Given the description of an element on the screen output the (x, y) to click on. 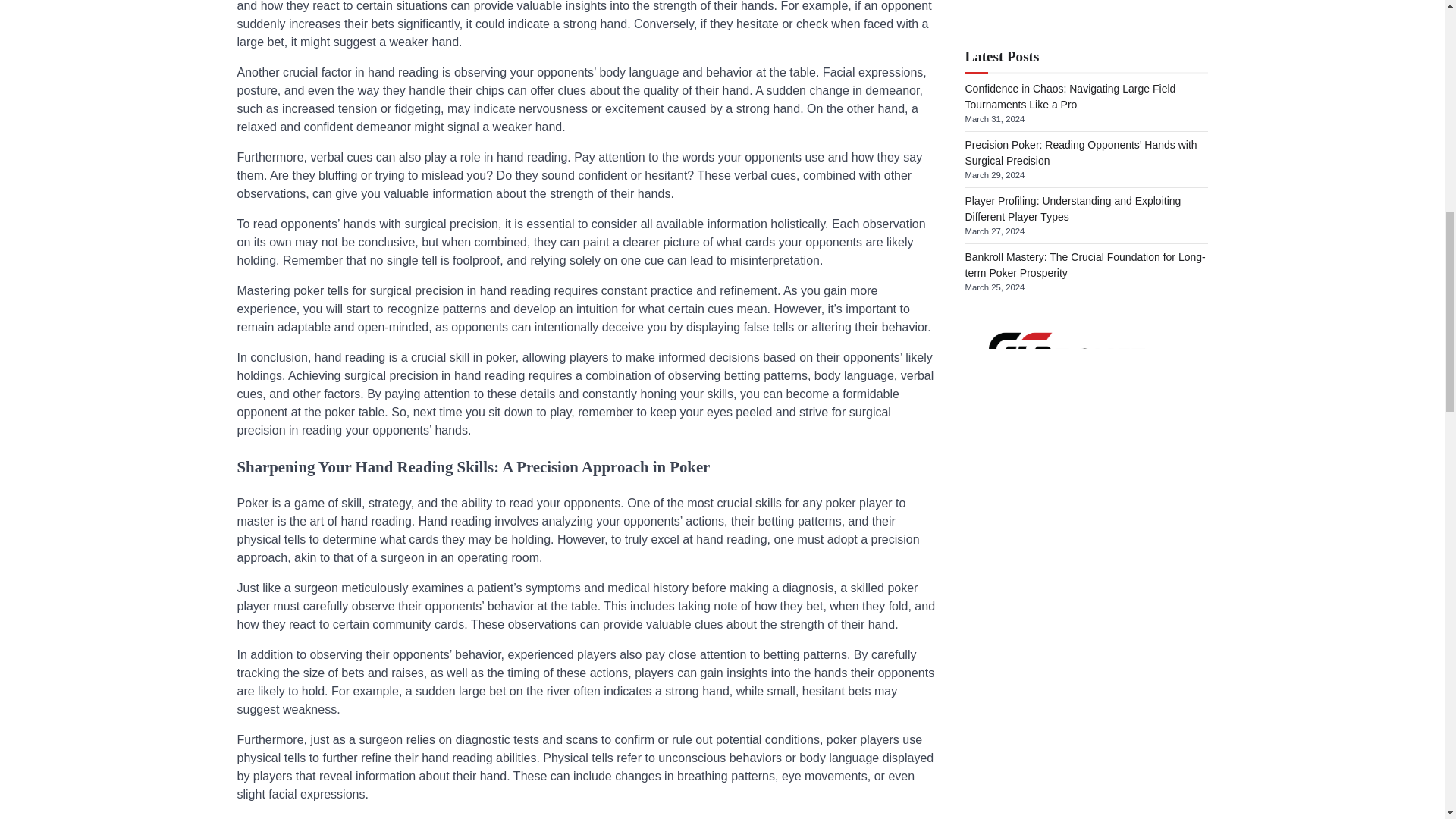
Baccarat (984, 472)
Poker Strategies (1003, 690)
Intermediate Strategy (1014, 608)
Entertainment (996, 581)
Poker Trivia (991, 717)
Blackjack (986, 526)
Poker Legends (999, 663)
Omaha Poker (996, 635)
Texas hold'em (997, 745)
Beginner Strategy (1006, 499)
